Given the description of an element on the screen output the (x, y) to click on. 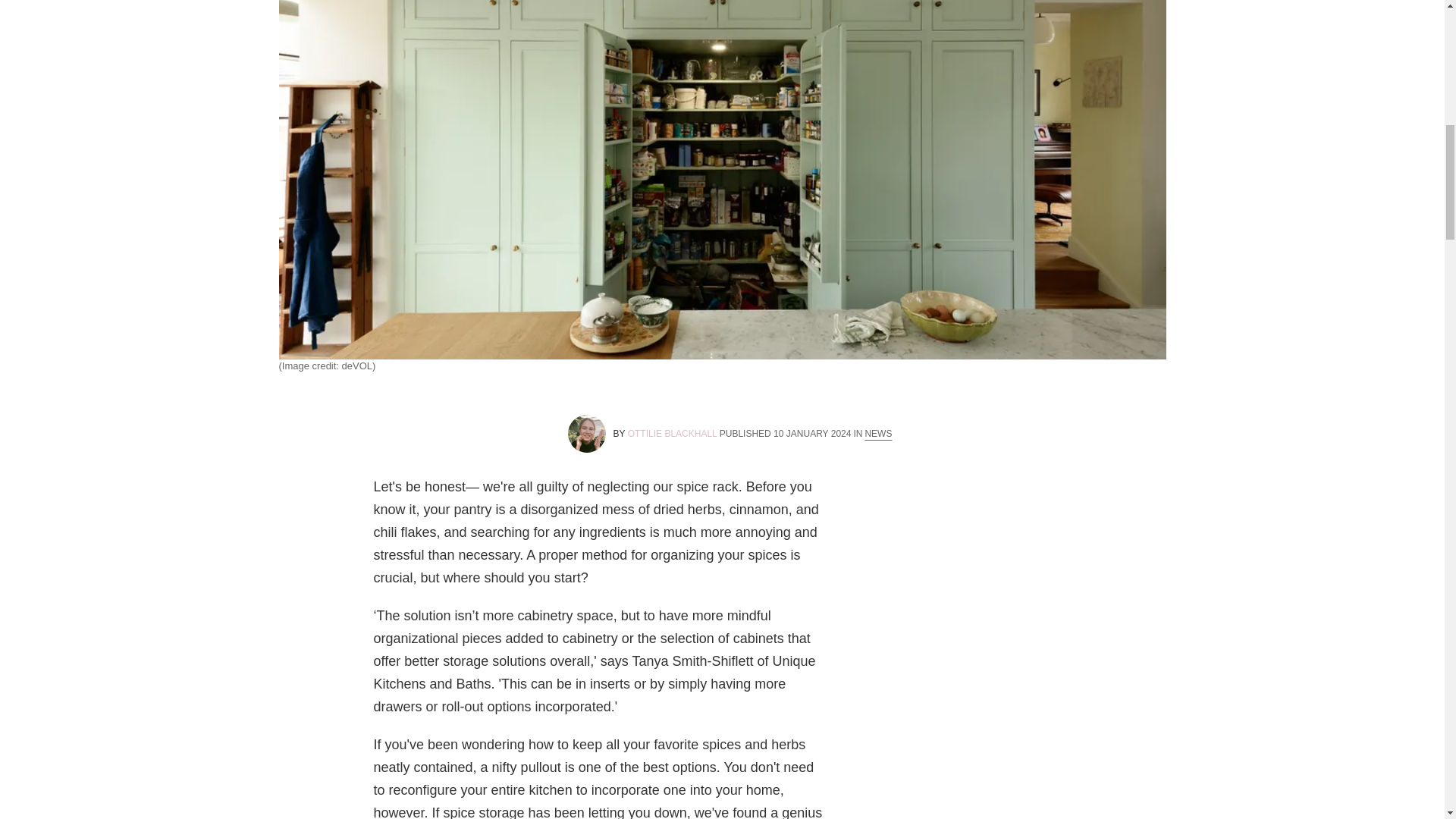
OTTILIE BLACKHALL (672, 433)
